Given the description of an element on the screen output the (x, y) to click on. 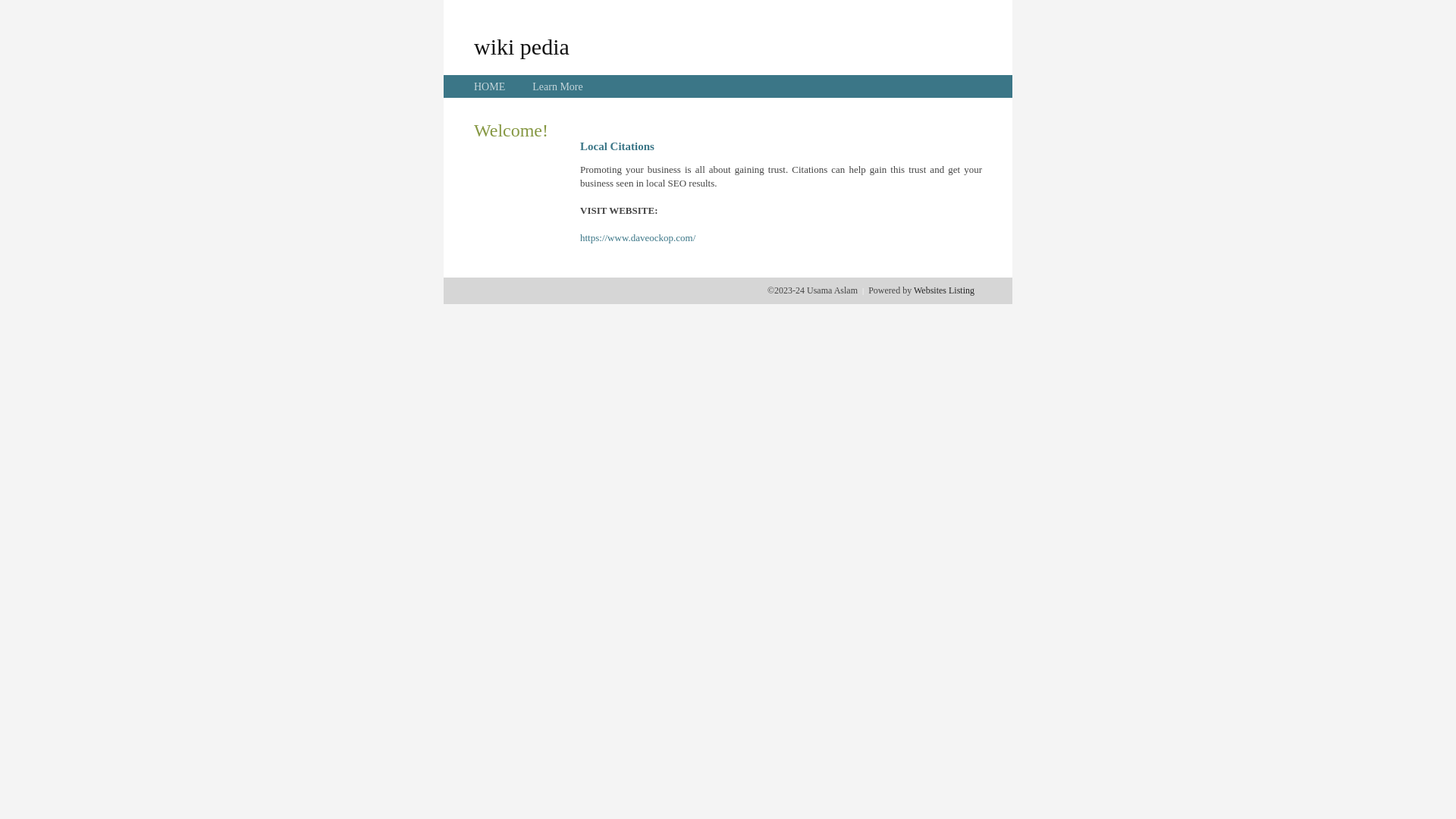
https://www.daveockop.com/ Element type: text (637, 237)
Websites Listing Element type: text (943, 290)
HOME Element type: text (489, 86)
wiki pedia Element type: text (521, 46)
Learn More Element type: text (557, 86)
